Given the description of an element on the screen output the (x, y) to click on. 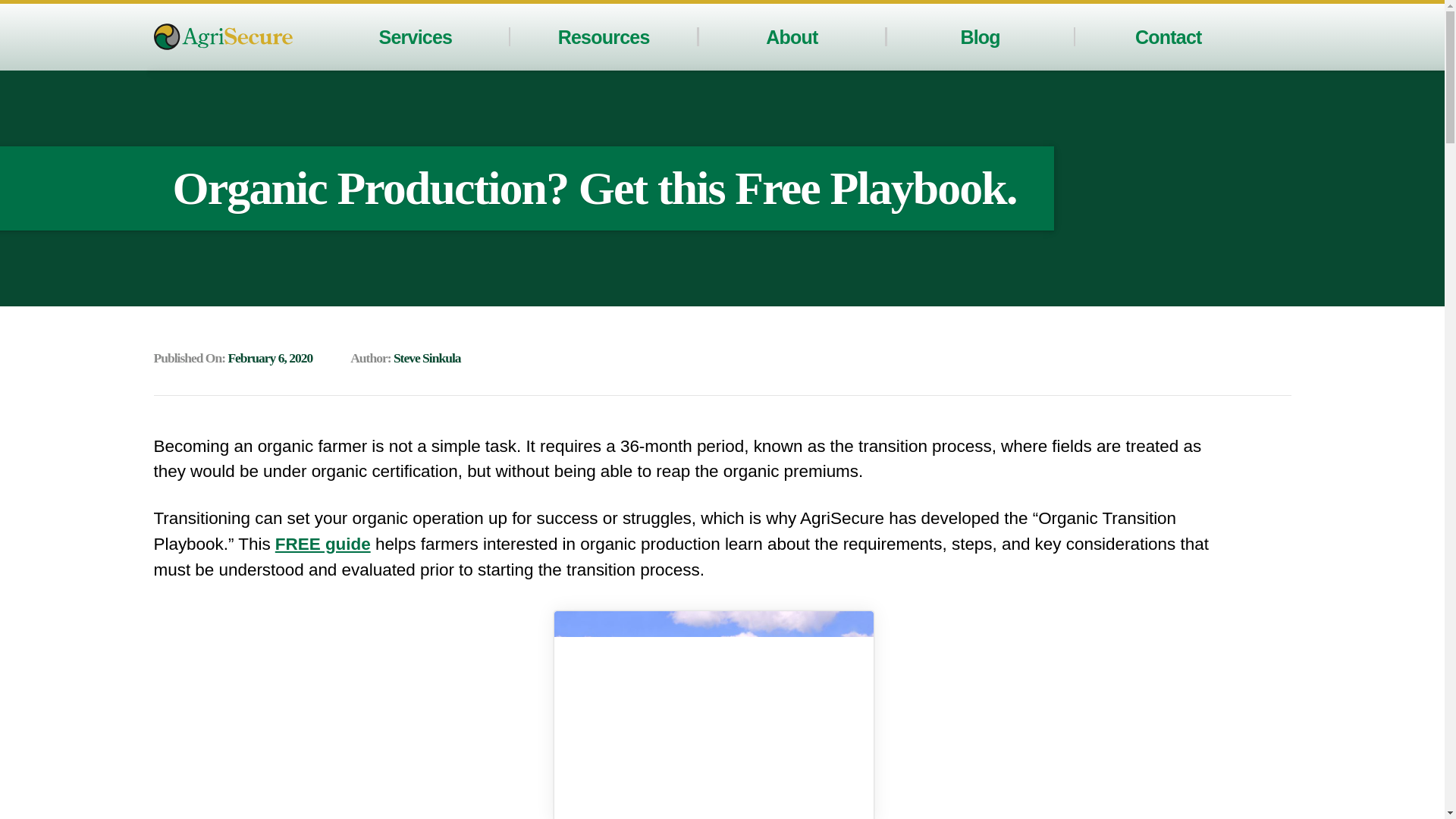
Resources (603, 37)
FREE guide (323, 544)
About (790, 37)
Services (415, 37)
AgriSecure (222, 36)
Contact (1168, 37)
Services (415, 37)
Blog (978, 37)
Resources (603, 37)
Blog (978, 37)
About (790, 37)
Contact (1168, 37)
